Given the description of an element on the screen output the (x, y) to click on. 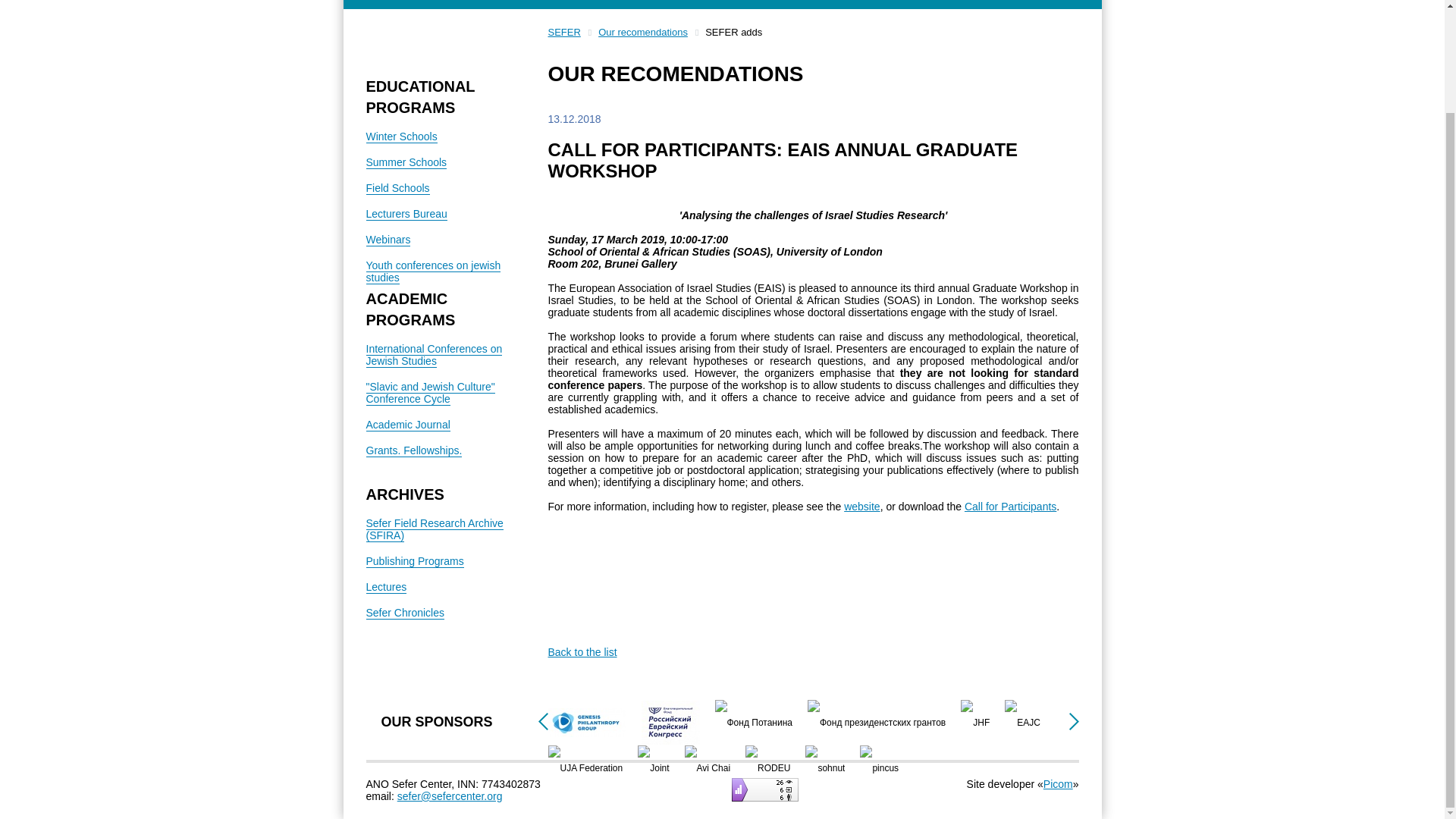
Youth conferences on jewish studies (432, 271)
CONTACTS (974, 4)
International Conferences on Jewish Studies (433, 355)
Lecturers Bureau (405, 214)
Publishing Programs (414, 561)
Our recomendations (642, 31)
Call for Participants (1010, 506)
Summer Schools (405, 162)
Field Schools (397, 187)
MEDIA ABOUT US (721, 4)
Back to the list (581, 652)
Lectures (385, 586)
Our recomendations (642, 31)
Grants. Fellowships. (413, 450)
Academic Journal (407, 424)
